Given the description of an element on the screen output the (x, y) to click on. 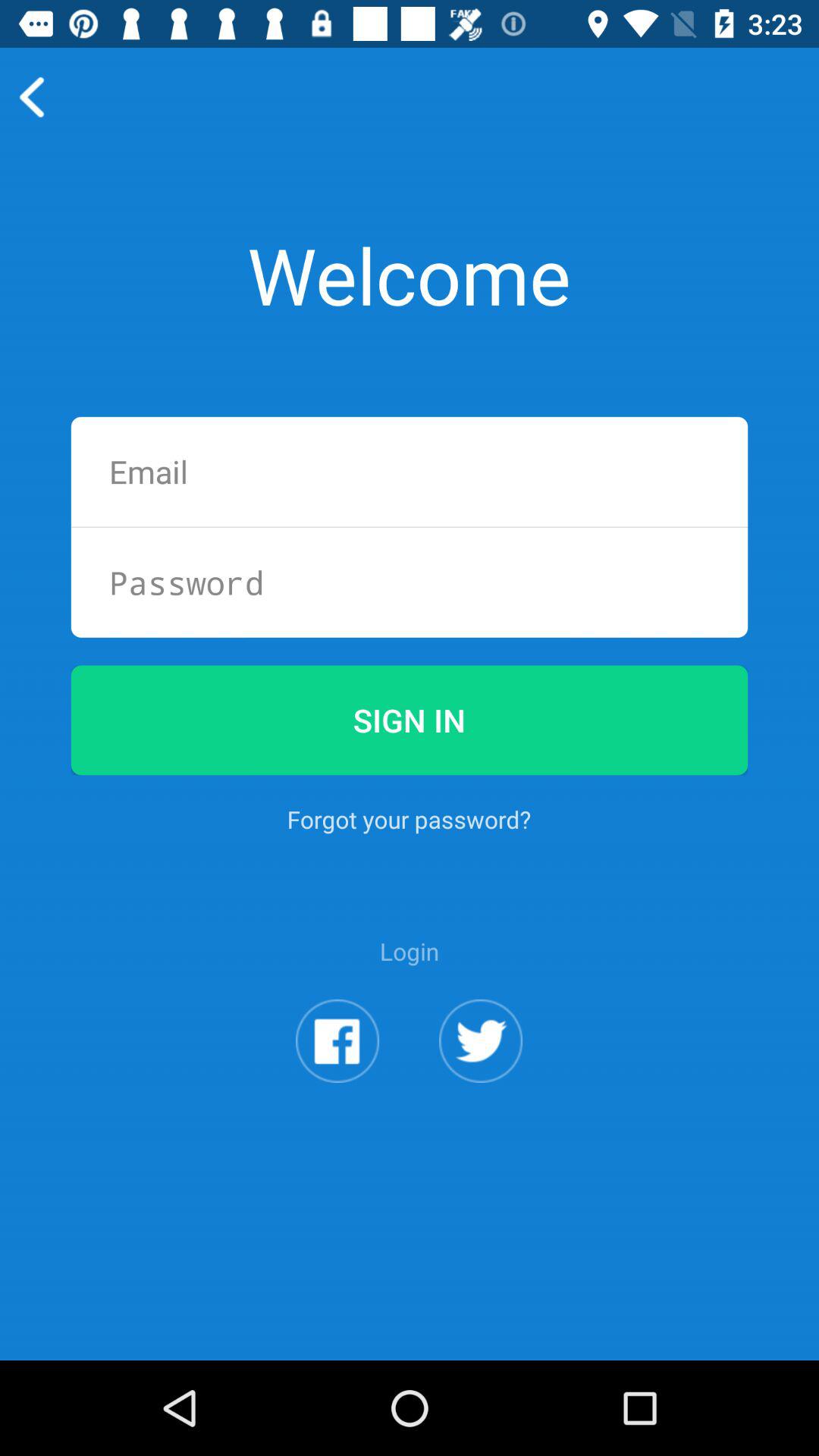
login with facebook (337, 1040)
